Given the description of an element on the screen output the (x, y) to click on. 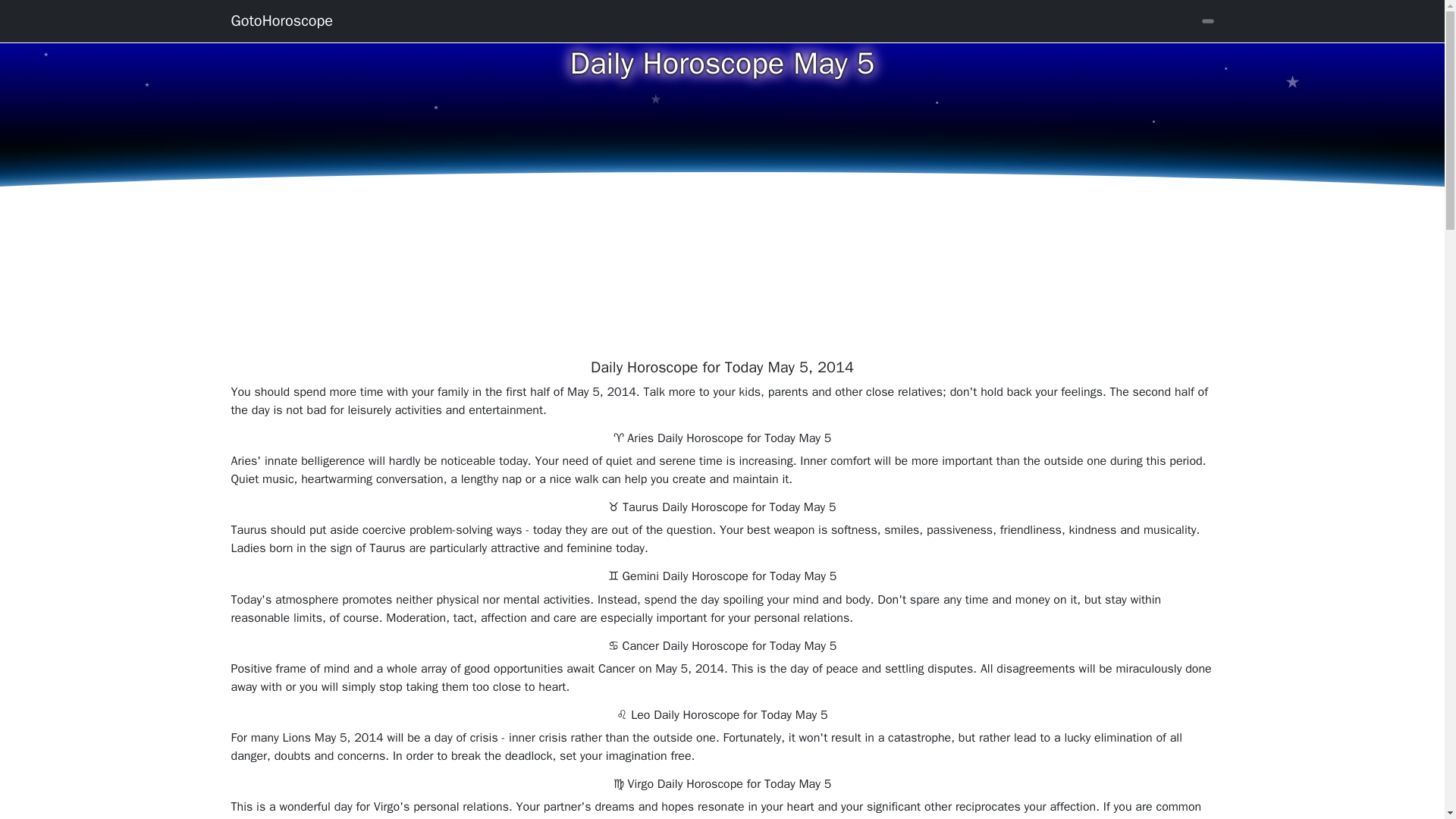
GotoHoroscope (281, 20)
Goto Horoscope Home (281, 20)
